Given the description of an element on the screen output the (x, y) to click on. 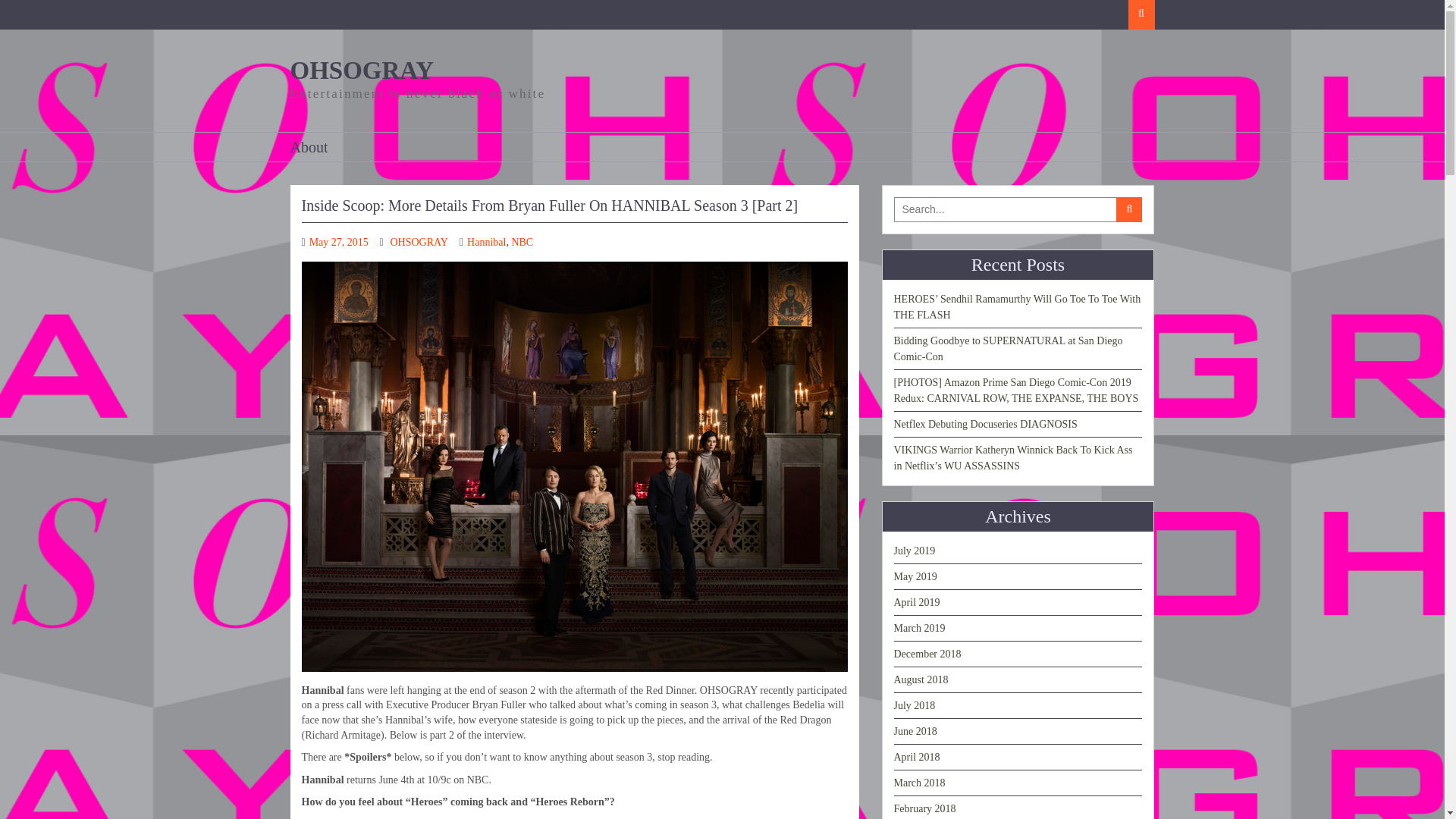
August 2018 (920, 679)
About (311, 146)
OHSOGRAY (419, 242)
April 2019 (916, 602)
March 2019 (918, 627)
May 27, 2015 (338, 242)
May 2019 (914, 576)
December 2018 (926, 654)
March 2018 (918, 782)
July 2019 (913, 550)
Hannibal (486, 242)
OHSOGRAY (361, 70)
April 2018 (916, 756)
June 2018 (914, 731)
NBC (521, 242)
